Given the description of an element on the screen output the (x, y) to click on. 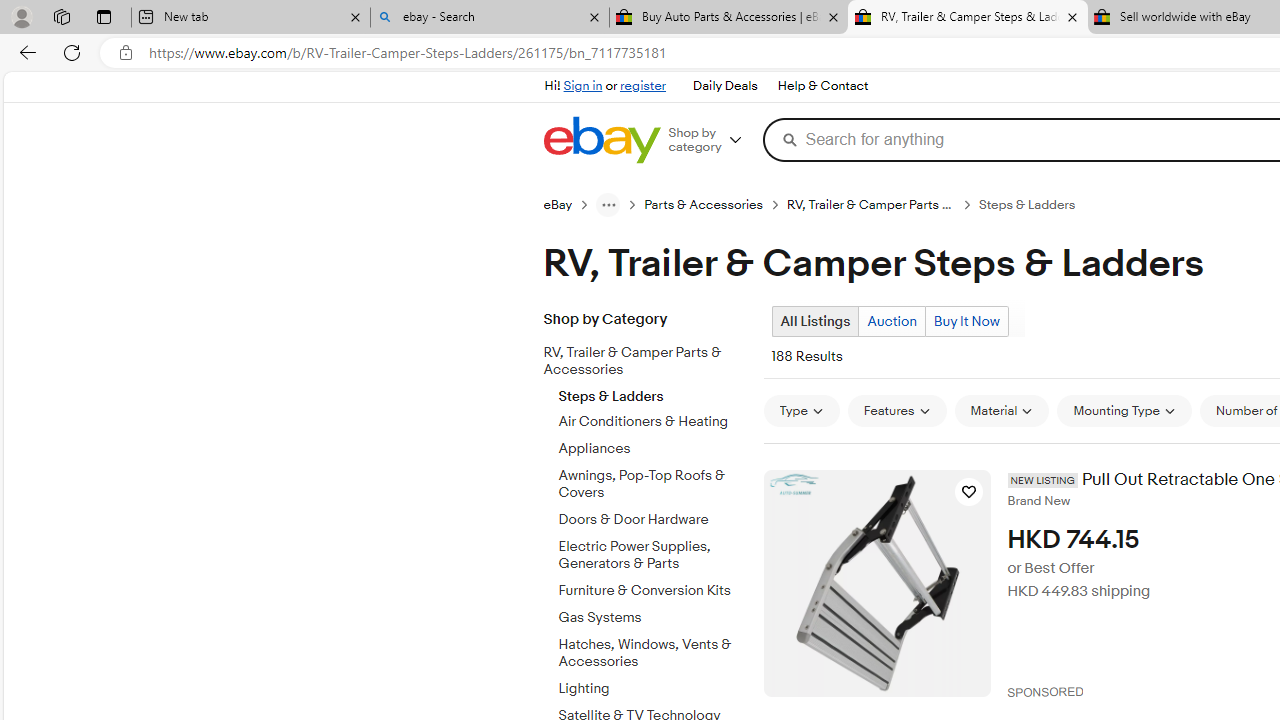
Type (800, 410)
Gas Systems (653, 614)
Awnings, Pop-Top Roofs & Covers (653, 481)
Material (1001, 410)
Doors & Door Hardware (653, 520)
Air Conditioners & Heating (653, 418)
Mounting Type (1124, 410)
Daily Deals (724, 86)
register (642, 85)
Help & Contact (821, 85)
All Listings (814, 321)
eBay Home (601, 139)
breadcrumb menu (608, 204)
Air Conditioners & Heating (653, 422)
